Given the description of an element on the screen output the (x, y) to click on. 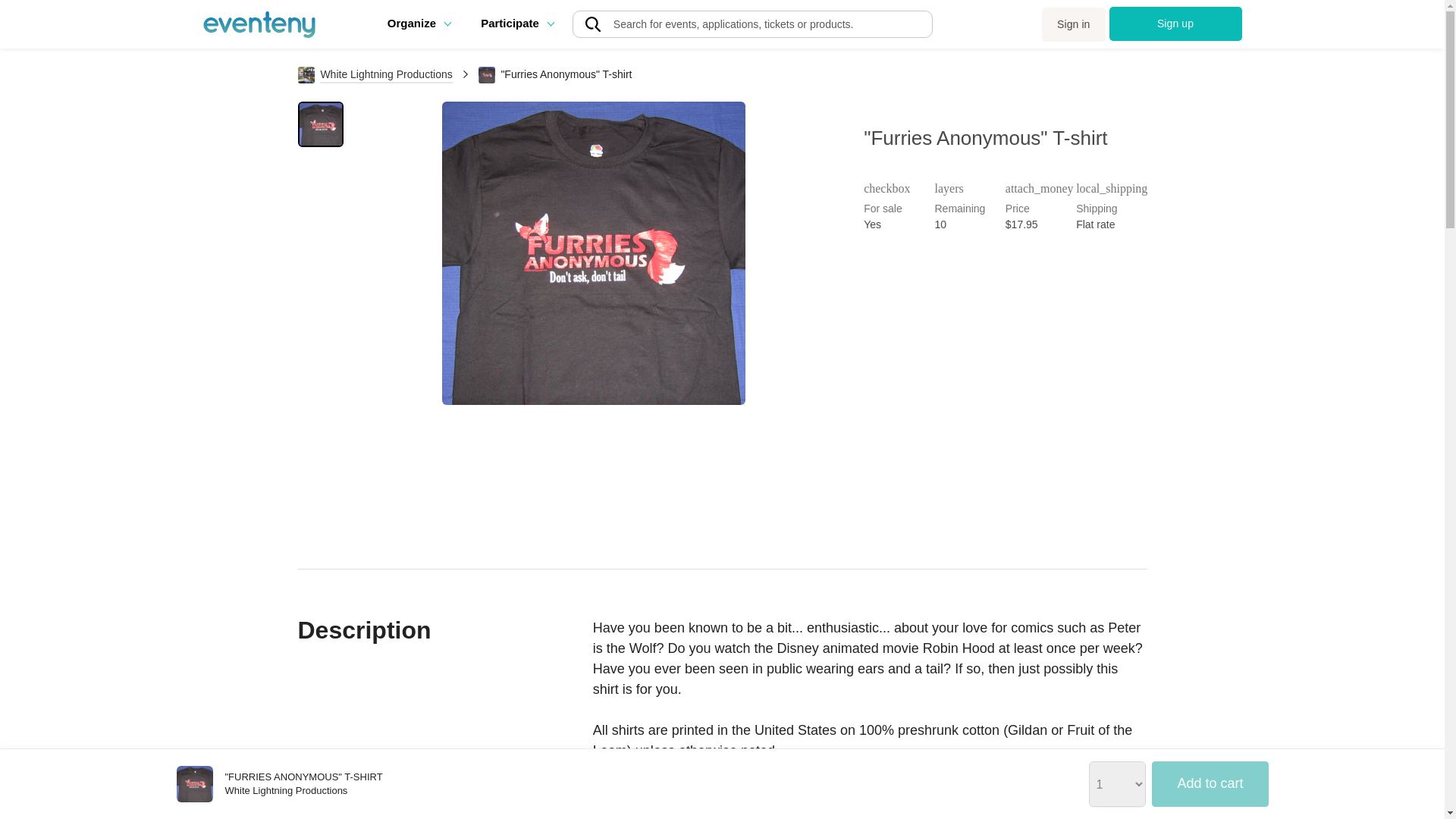
Sign in (1073, 24)
Participate (516, 22)
"Furries Anonymous" T-shirt (194, 783)
Create events your way - Eventeny (259, 24)
White Lightning Productions (375, 73)
Organize (418, 22)
